Given the description of an element on the screen output the (x, y) to click on. 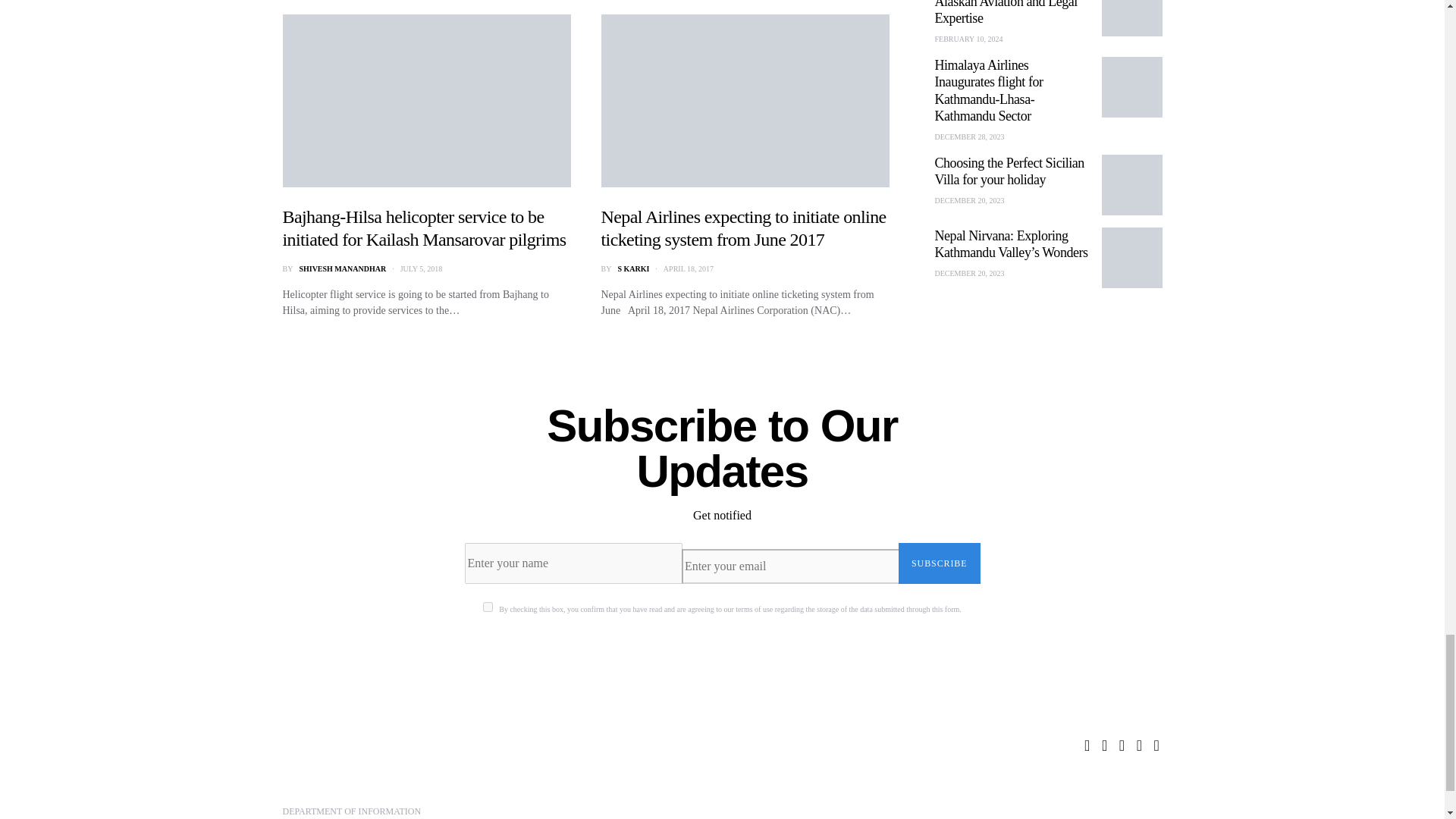
View all posts by S Karki (633, 268)
View all posts by Shivesh Manandhar (341, 268)
on (488, 606)
